Given the description of an element on the screen output the (x, y) to click on. 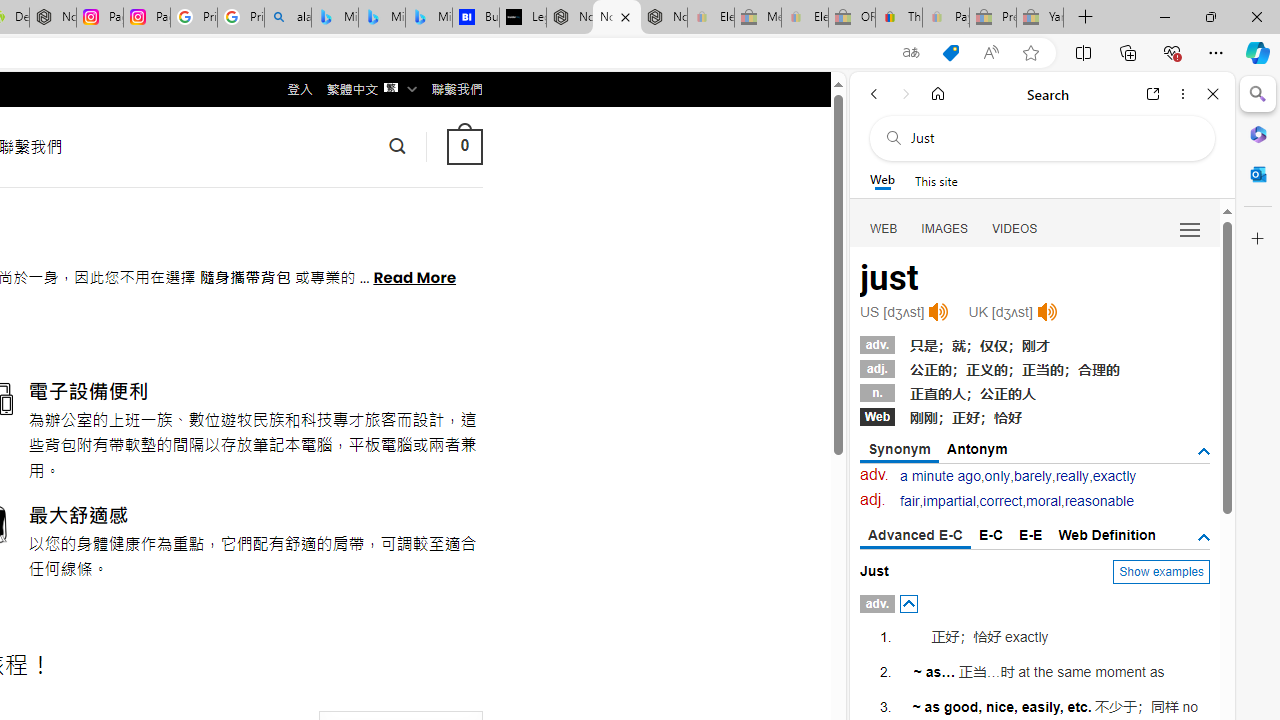
Microsoft Bing Travel - Flights from Hong Kong to Bangkok (335, 17)
This site has coupons! Shopping in Microsoft Edge (950, 53)
reasonable (1098, 501)
only (997, 475)
  0   (464, 146)
